Given the description of an element on the screen output the (x, y) to click on. 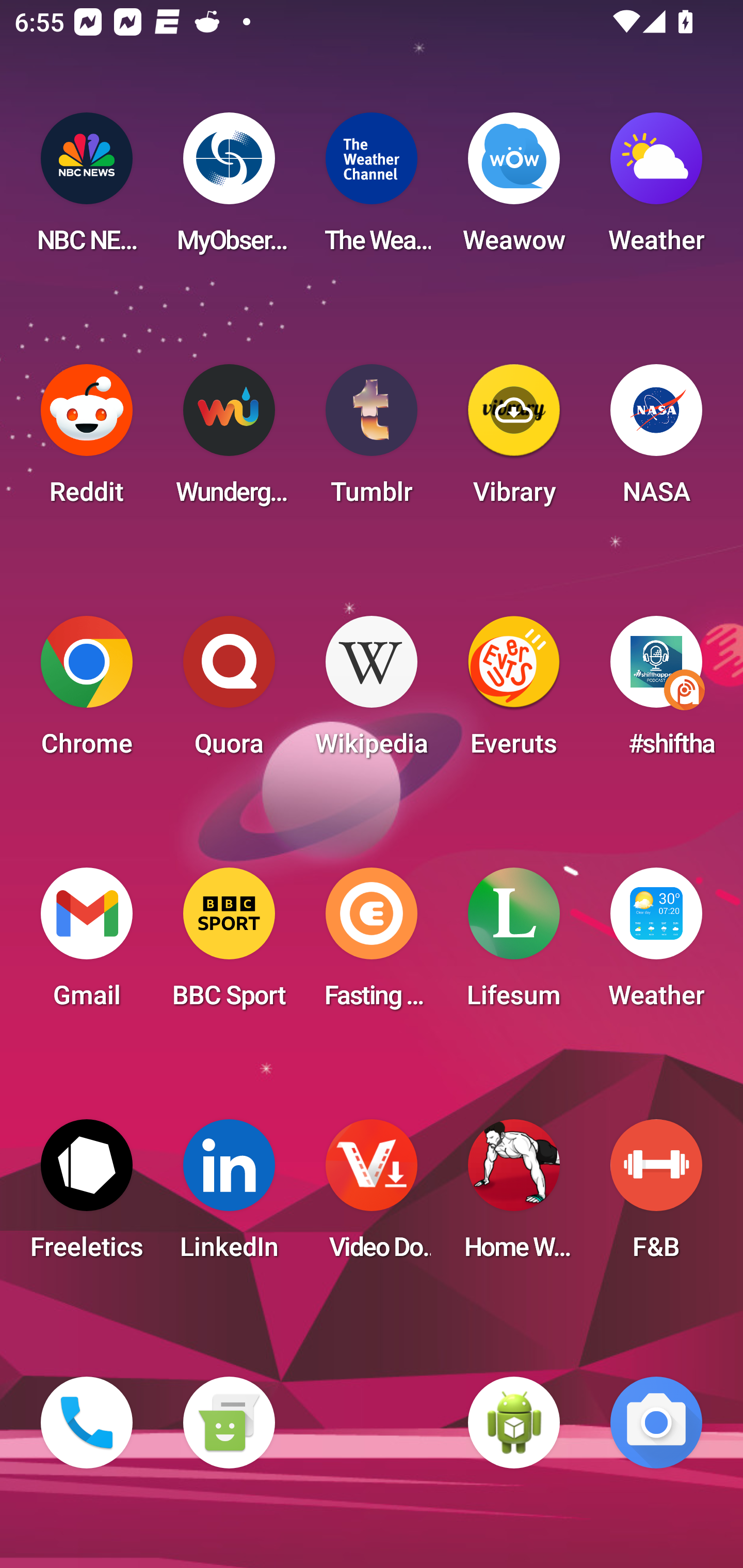
NBC NEWS (86, 188)
MyObservatory (228, 188)
The Weather Channel (371, 188)
Weawow (513, 188)
Weather (656, 188)
Reddit (86, 440)
Wunderground (228, 440)
Tumblr (371, 440)
Vibrary (513, 440)
NASA (656, 440)
Chrome (86, 692)
Quora (228, 692)
Wikipedia (371, 692)
Everuts (513, 692)
#shifthappens in the Digital Workplace Podcast (656, 692)
Gmail (86, 943)
BBC Sport (228, 943)
Fasting Coach (371, 943)
Lifesum (513, 943)
Weather (656, 943)
Freeletics (86, 1195)
LinkedIn (228, 1195)
Video Downloader & Ace Player (371, 1195)
Home Workout (513, 1195)
F&B (656, 1195)
Phone (86, 1422)
Messaging (228, 1422)
WebView Browser Tester (513, 1422)
Camera (656, 1422)
